Given the description of an element on the screen output the (x, y) to click on. 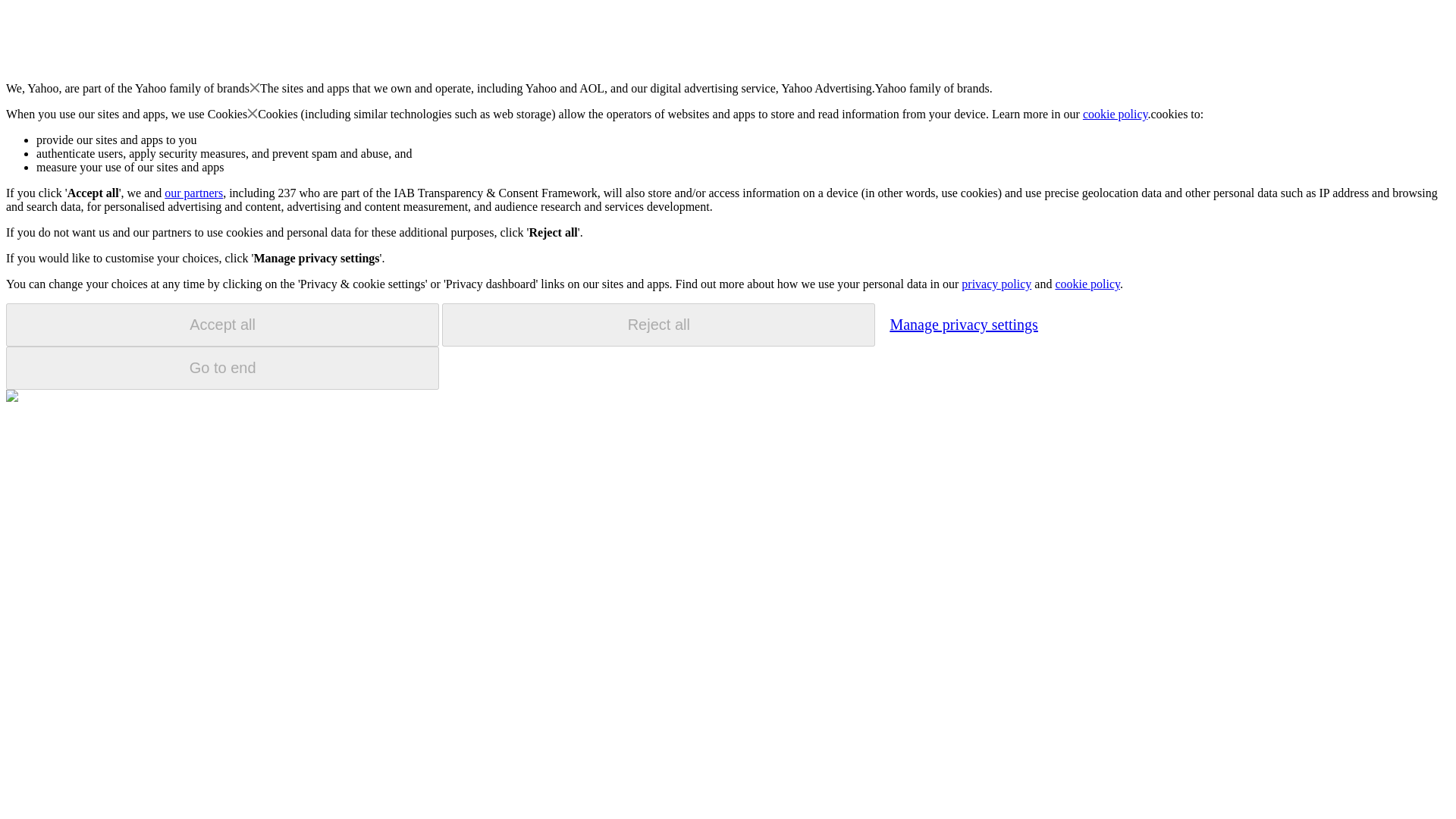
Reject all (658, 324)
Manage privacy settings (963, 323)
cookie policy (1115, 113)
Go to end (222, 367)
our partners (193, 192)
cookie policy (1086, 283)
privacy policy (995, 283)
Accept all (222, 324)
